Given the description of an element on the screen output the (x, y) to click on. 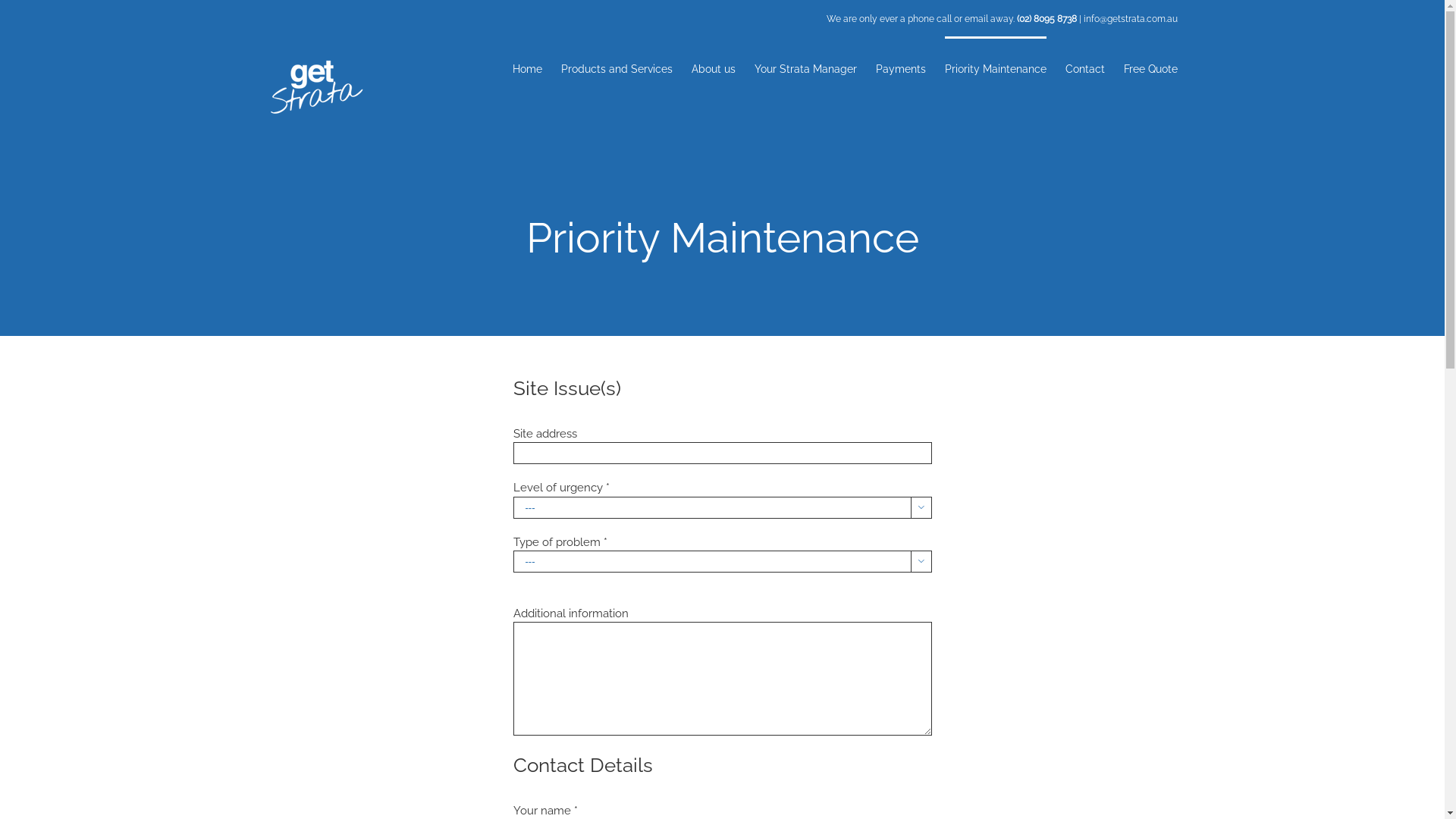
Contact Element type: text (1084, 68)
Home Element type: text (527, 68)
Payments Element type: text (900, 68)
Your Strata Manager Element type: text (804, 68)
About us Element type: text (713, 68)
Priority Maintenance Element type: text (995, 68)
Free Quote Element type: text (1150, 68)
Products and Services Element type: text (616, 68)
